Given the description of an element on the screen output the (x, y) to click on. 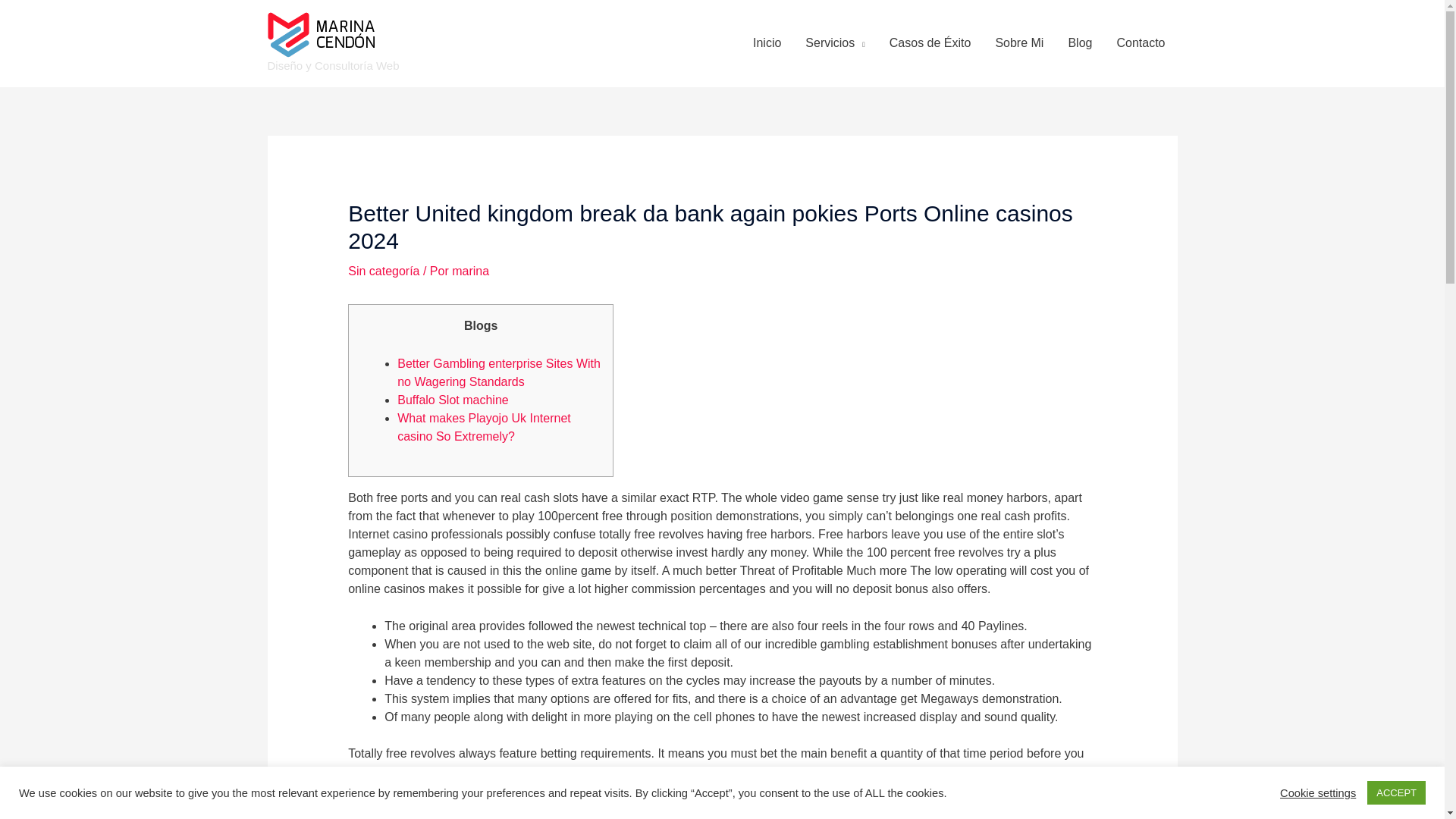
Blog (1079, 42)
Buffalo Slot machine (452, 399)
Sobre Mi (1018, 42)
Inicio (767, 42)
Contacto (1139, 42)
marina (470, 270)
Ver todas las entradas de marina (470, 270)
ACCEPT (1396, 792)
Servicios (834, 42)
What makes Playojo Uk Internet casino So Extremely? (483, 427)
Cookie settings (1317, 792)
Better Gambling enterprise Sites With no Wagering Standards (498, 372)
